Given the description of an element on the screen output the (x, y) to click on. 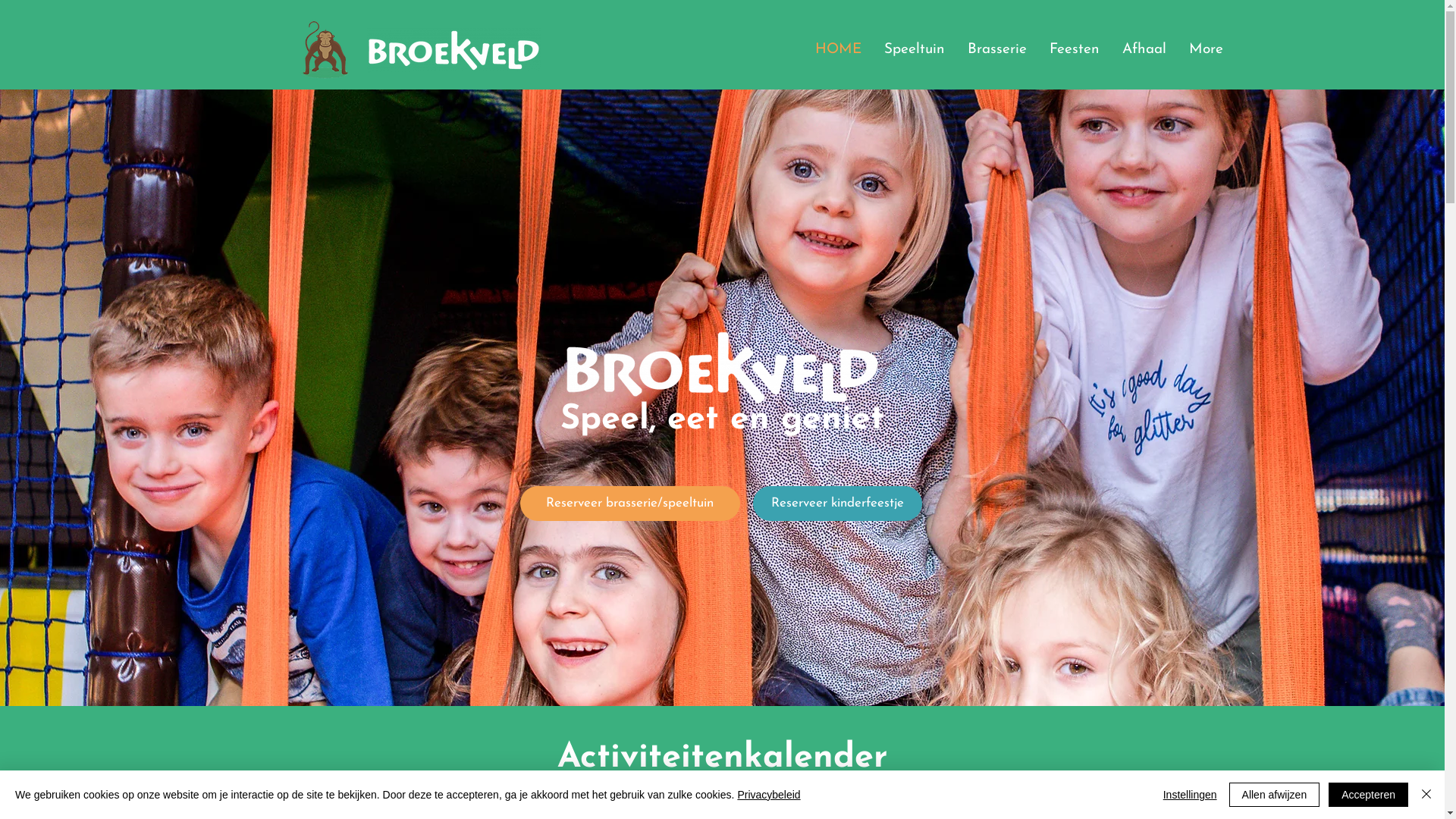
Accepteren Element type: text (1368, 794)
HOME Element type: text (837, 49)
Reserveer kinderfeestje Element type: text (836, 503)
Speeltuin Element type: text (913, 49)
Brasserie Element type: text (996, 49)
Privacybeleid Element type: text (768, 794)
Feesten Element type: text (1073, 49)
Afhaal Element type: text (1143, 49)
Allen afwijzen Element type: text (1274, 794)
Reserveer brasserie/speeltuin Element type: text (630, 503)
